Given the description of an element on the screen output the (x, y) to click on. 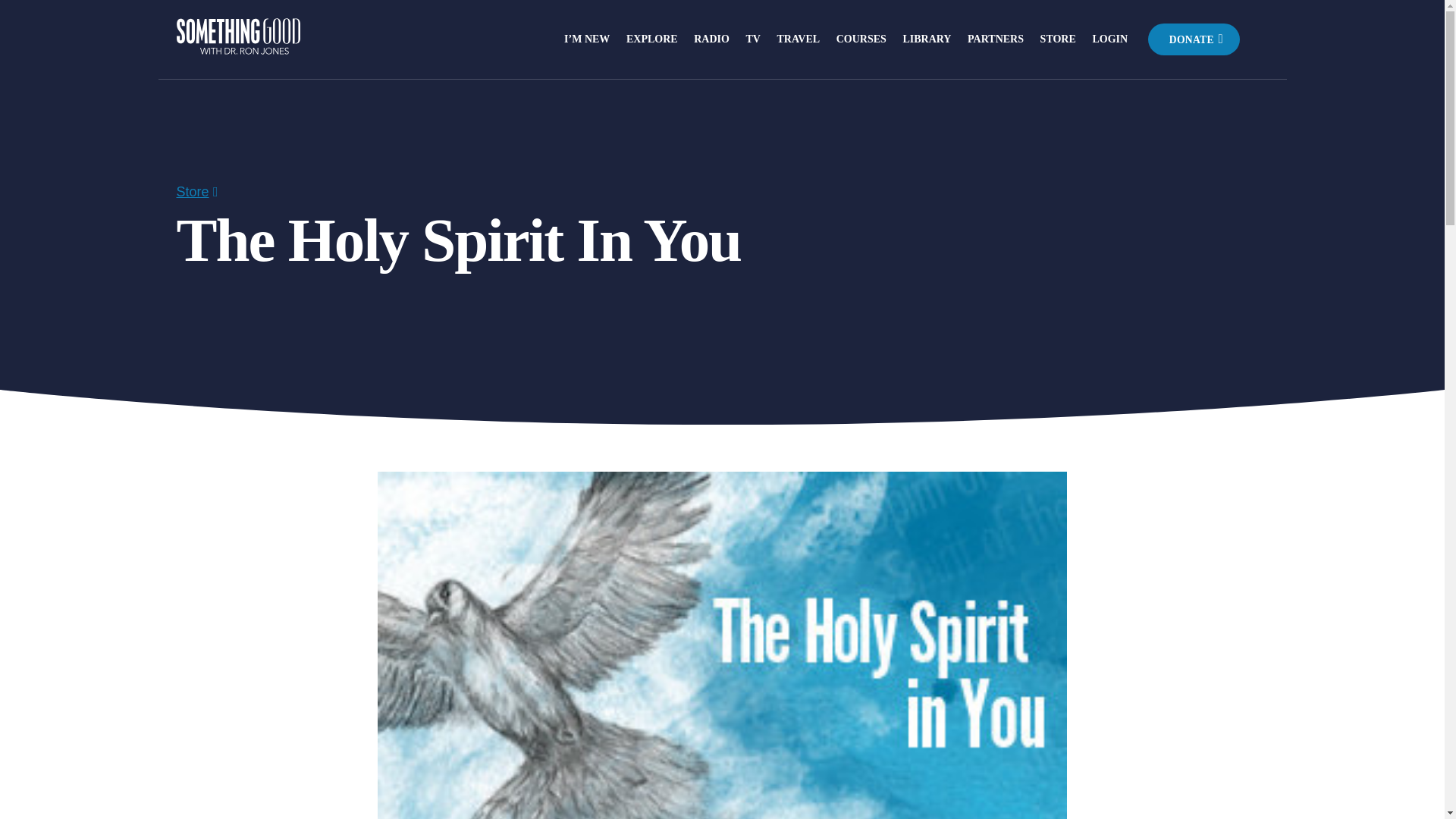
COURSES (860, 39)
TRAVEL (799, 39)
EXPLORE (652, 39)
Store (192, 191)
DONATE (1194, 39)
LIBRARY (926, 39)
PARTNERS (995, 39)
